Given the description of an element on the screen output the (x, y) to click on. 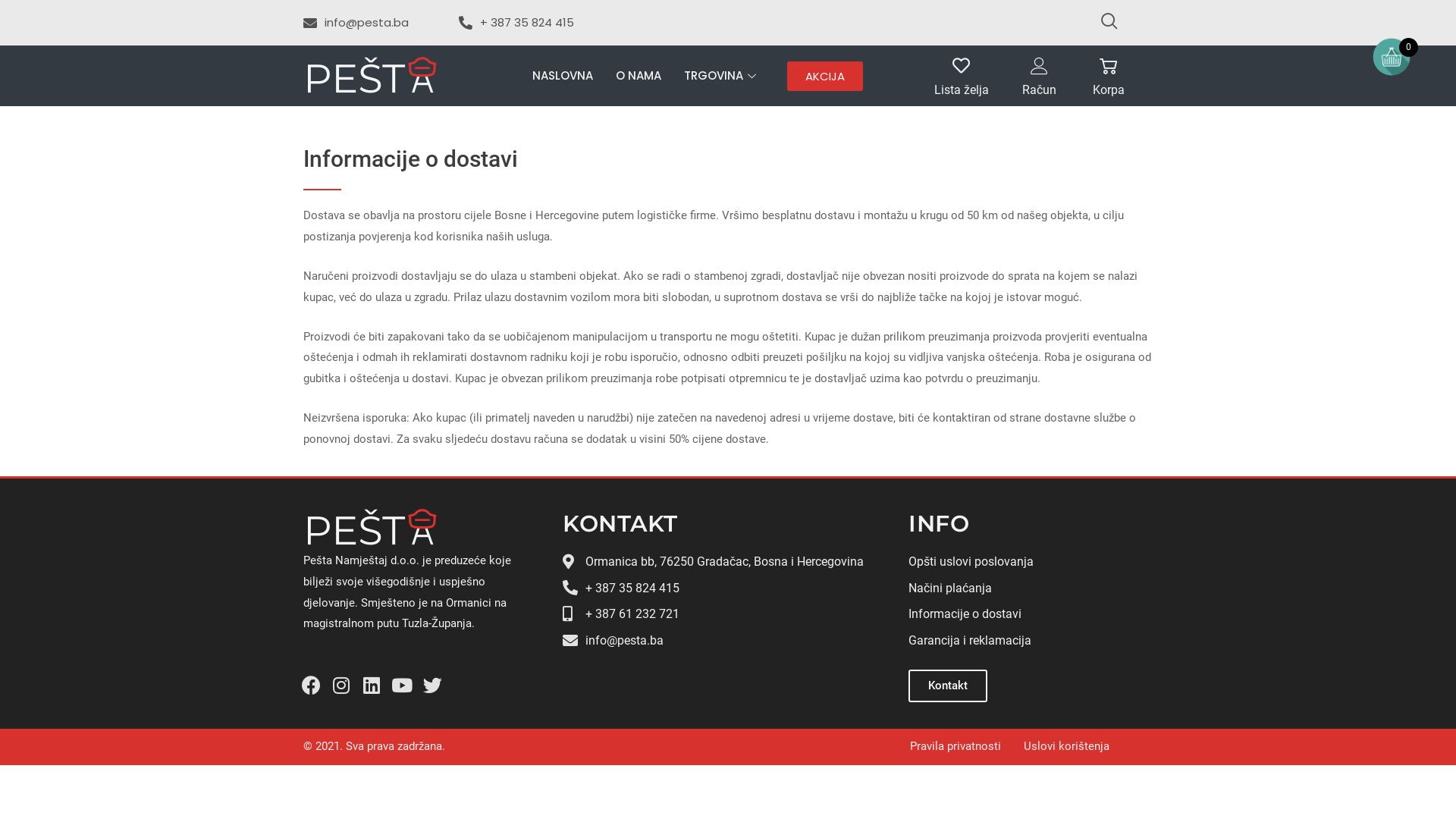
AKCIJA Element type: text (824, 76)
TRGOVINA Element type: text (721, 75)
NASLOVNA Element type: text (562, 75)
pesta-logo Element type: hover (371, 75)
Korpa Element type: text (1108, 89)
Kontakt Element type: text (947, 685)
Garancija i reklamacija Element type: text (1028, 640)
pesta-logo Element type: hover (371, 527)
O NAMA Element type: text (638, 75)
0 Element type: text (1391, 56)
Informacije o dostavi Element type: text (1028, 613)
